Given the description of an element on the screen output the (x, y) to click on. 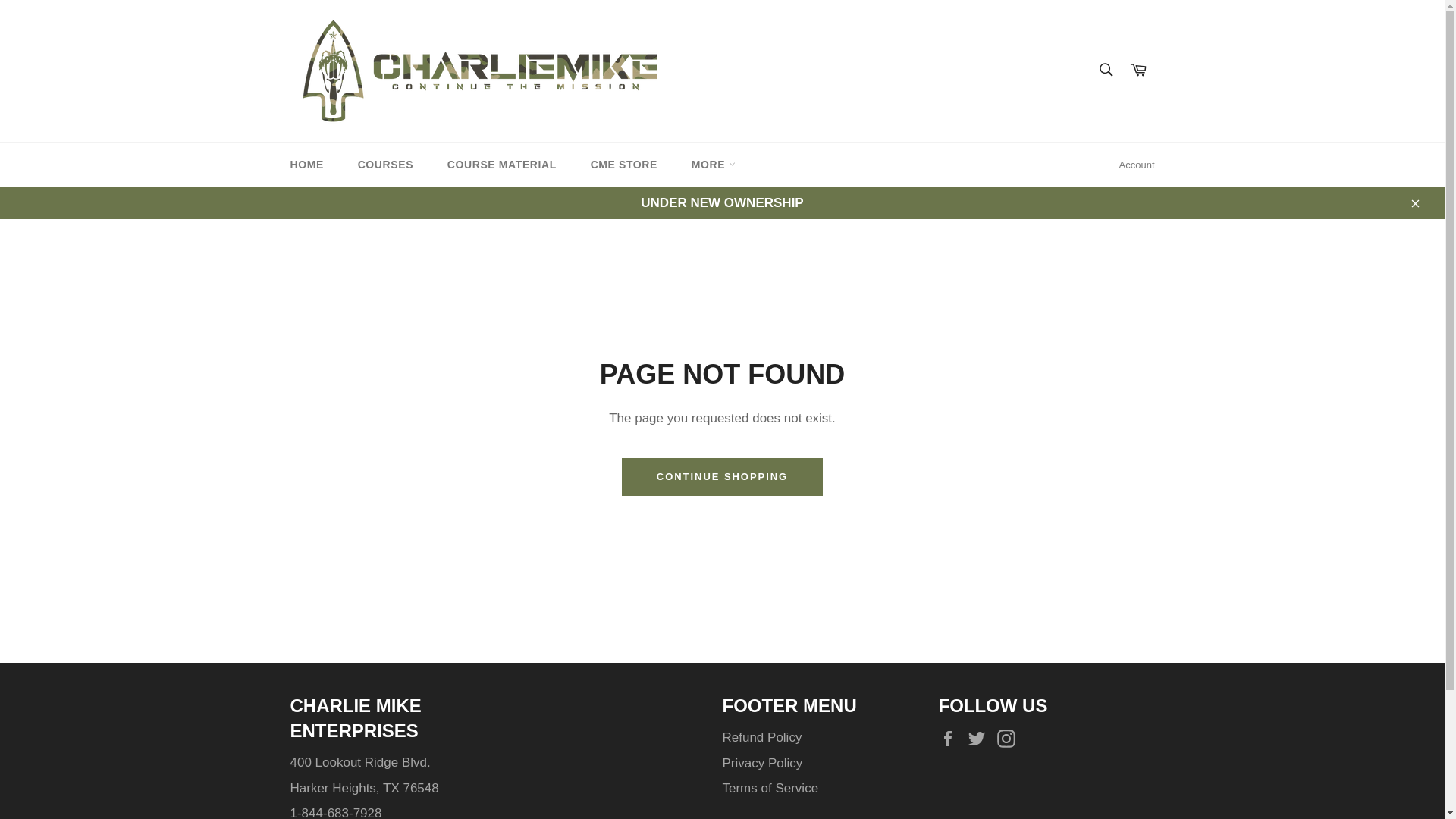
Charlie Mike Enterprises, Inc on Facebook (951, 737)
Charlie Mike Enterprises, Inc on Instagram (1010, 737)
COURSE MATERIAL (502, 164)
HOME (306, 164)
Close (1414, 202)
MORE (714, 164)
Terms of Service (770, 788)
CME STORE (623, 164)
Search (1104, 69)
Charlie Mike Enterprises, Inc on Twitter (980, 737)
Privacy Policy (762, 762)
COURSES (385, 164)
Cart (1138, 70)
Account (1136, 165)
Refund Policy (762, 737)
